Given the description of an element on the screen output the (x, y) to click on. 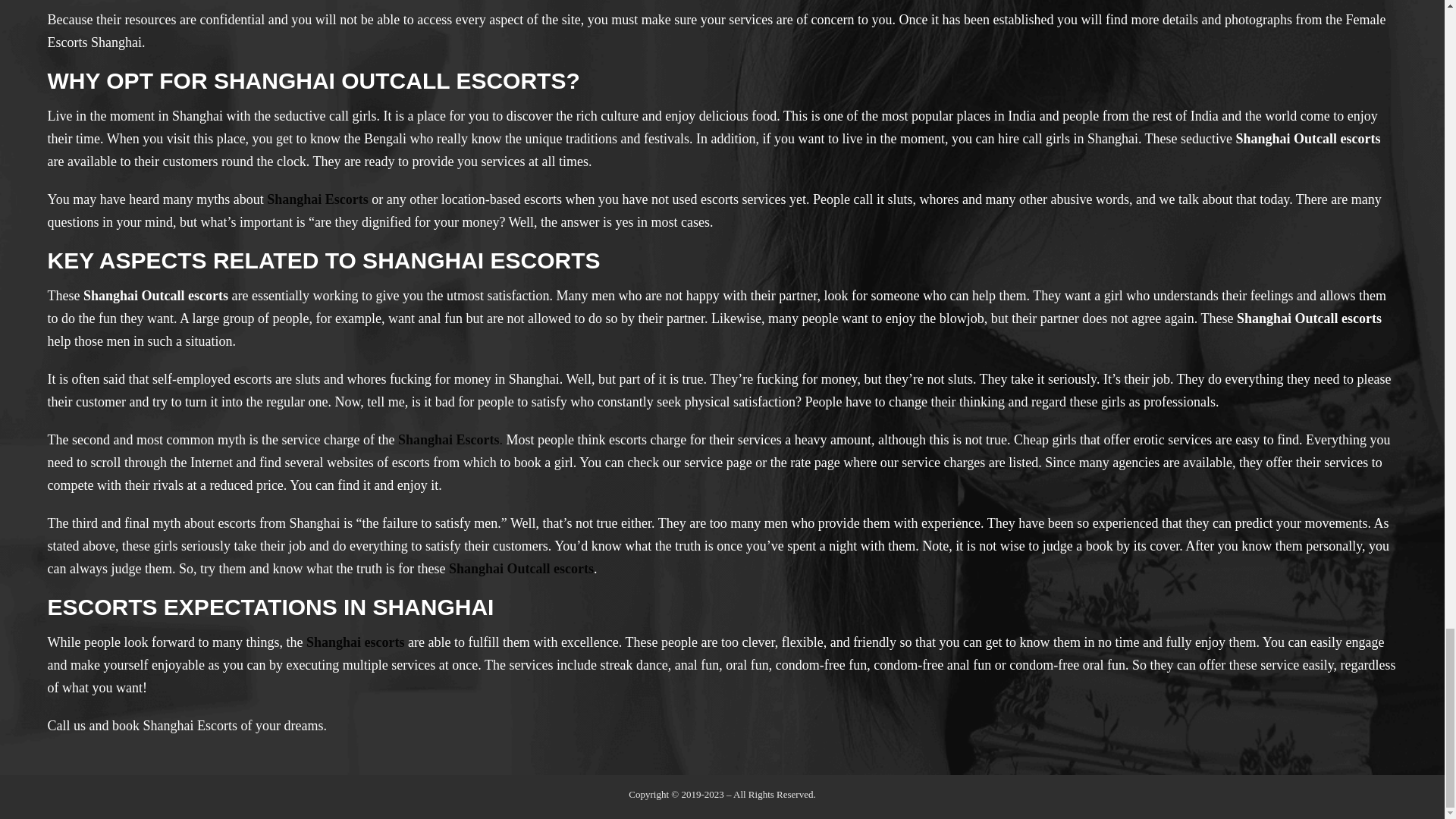
Shanghai Escorts. (449, 439)
Shanghai Escorts (317, 199)
Shanghai Outcall escorts (521, 568)
Shanghai escorts (354, 642)
